Given the description of an element on the screen output the (x, y) to click on. 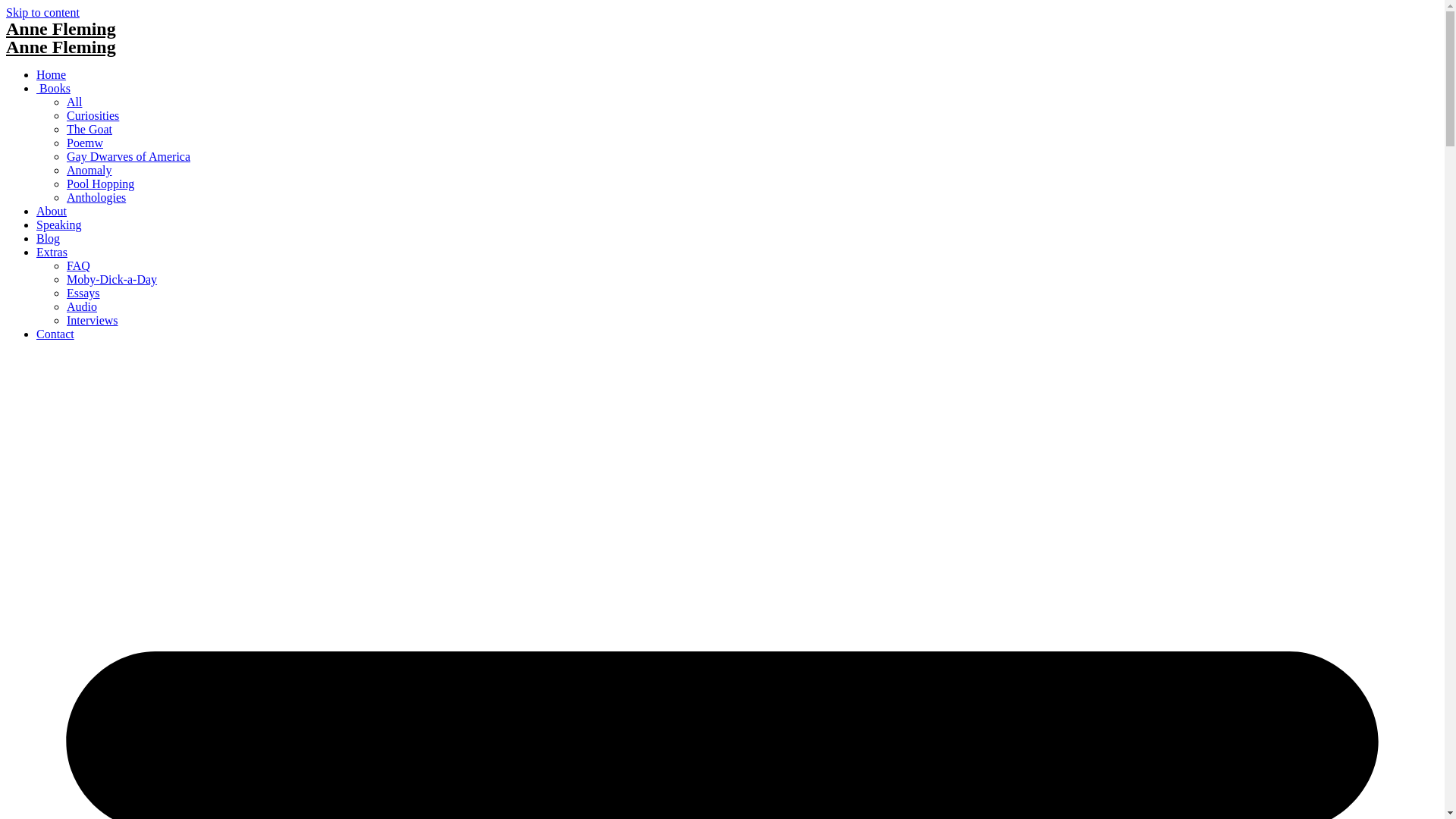
Extras Element type: text (51, 251)
Speaking Element type: text (58, 224)
Moby-Dick-a-Day Element type: text (111, 279)
Contact Element type: text (55, 333)
Essays Element type: text (83, 292)
Blog Element type: text (47, 238)
The Goat Element type: text (89, 128)
Interviews Element type: text (92, 319)
 Books Element type: text (53, 87)
About Element type: text (51, 210)
Poemw Element type: text (84, 142)
Pool Hopping Element type: text (100, 183)
Anne Fleming Element type: text (61, 28)
Audio Element type: text (81, 306)
Skip to content Element type: text (42, 12)
Gay Dwarves of America Element type: text (128, 156)
Home Element type: text (50, 74)
Anne Fleming Element type: text (61, 46)
Anomaly Element type: text (89, 169)
FAQ Element type: text (78, 265)
Anthologies Element type: text (95, 197)
Curiosities Element type: text (92, 115)
All Element type: text (73, 101)
